Given the description of an element on the screen output the (x, y) to click on. 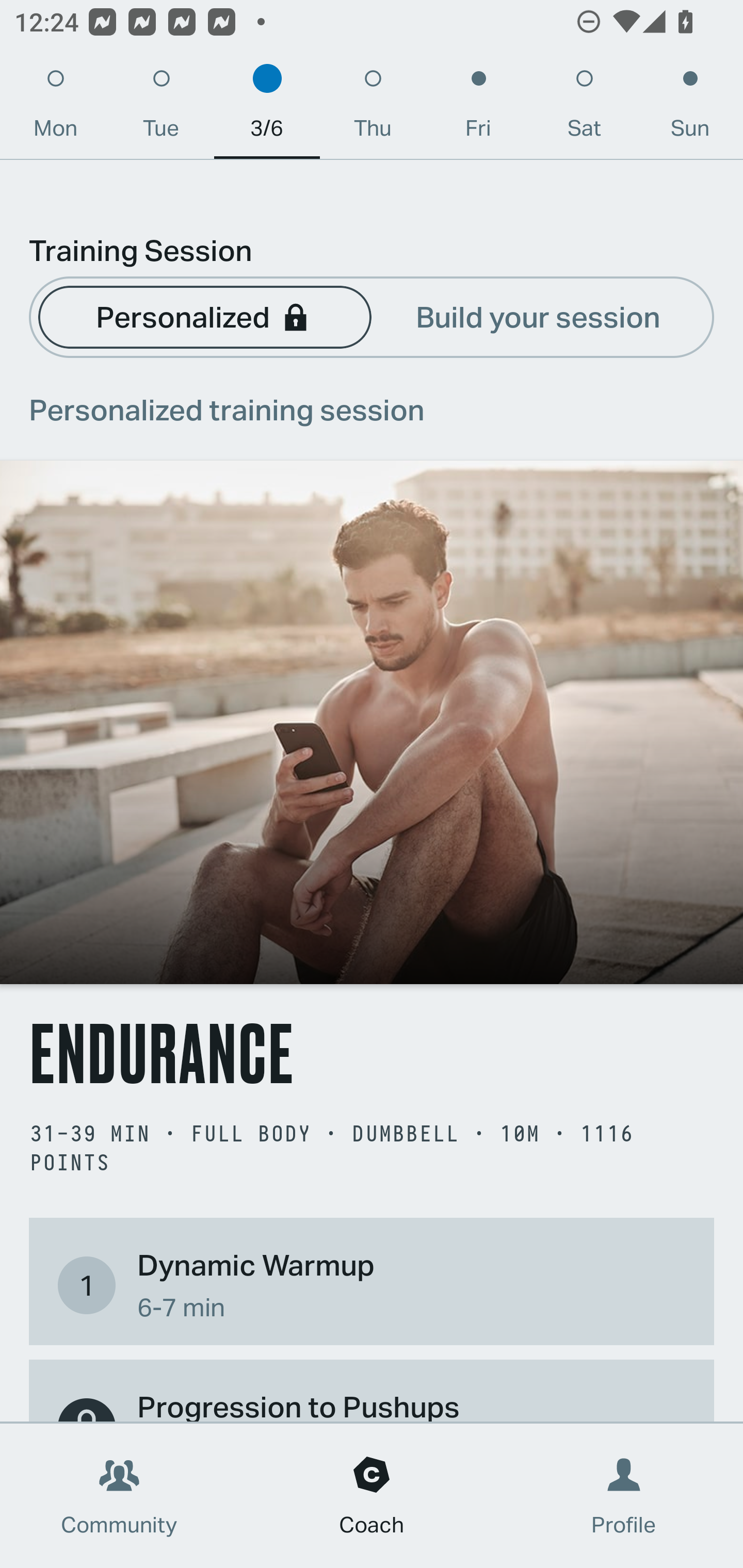
Mon (55, 108)
Tue (160, 108)
3/6 (266, 108)
Thu (372, 108)
Fri (478, 108)
Sat (584, 108)
Sun (690, 108)
Personalized (204, 315)
Build your session (538, 315)
1 Dynamic Warmup 6-7 min (371, 1284)
Community (119, 1495)
Profile (624, 1495)
